Given the description of an element on the screen output the (x, y) to click on. 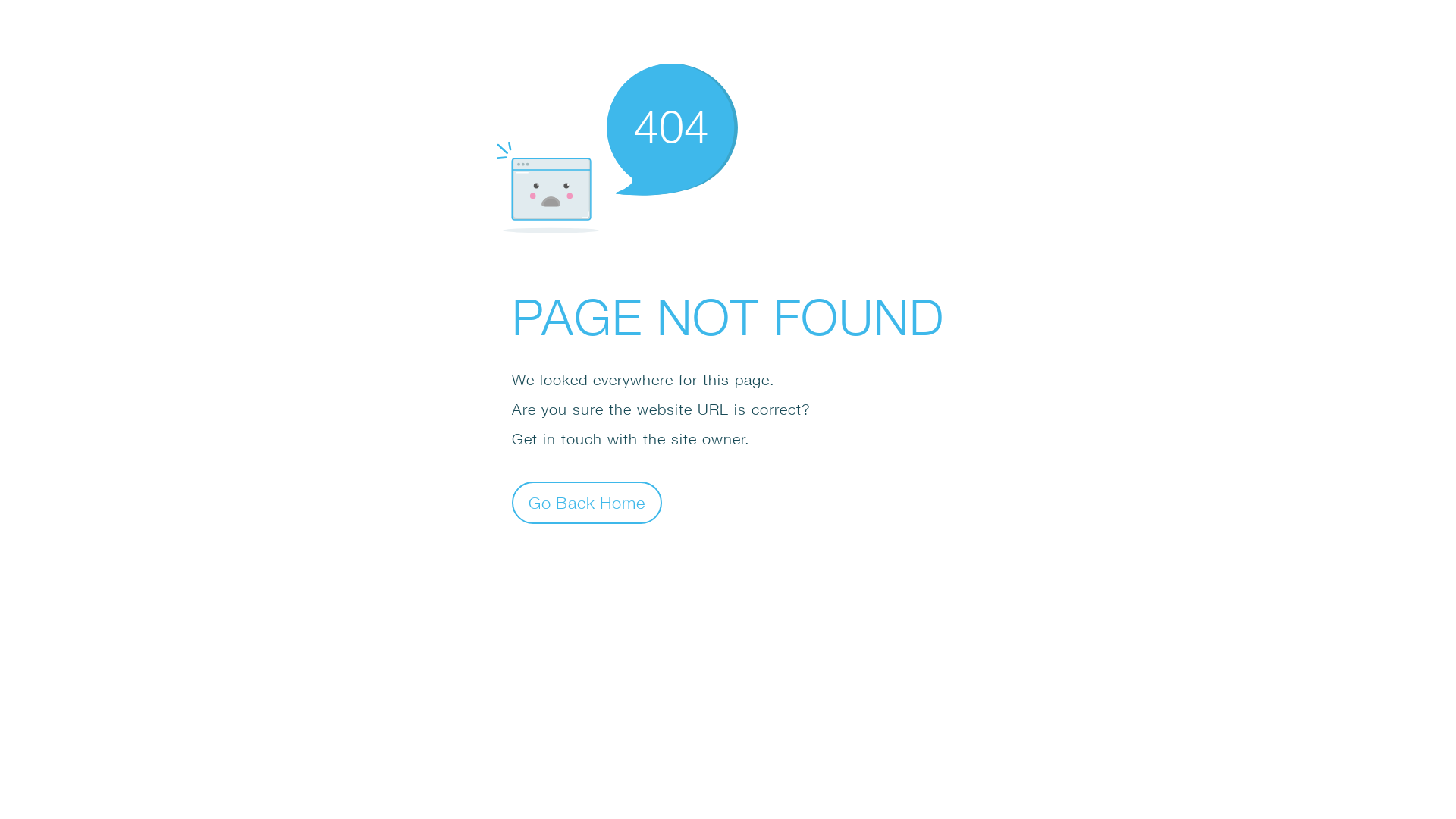
Go Back Home Element type: text (586, 502)
